Given the description of an element on the screen output the (x, y) to click on. 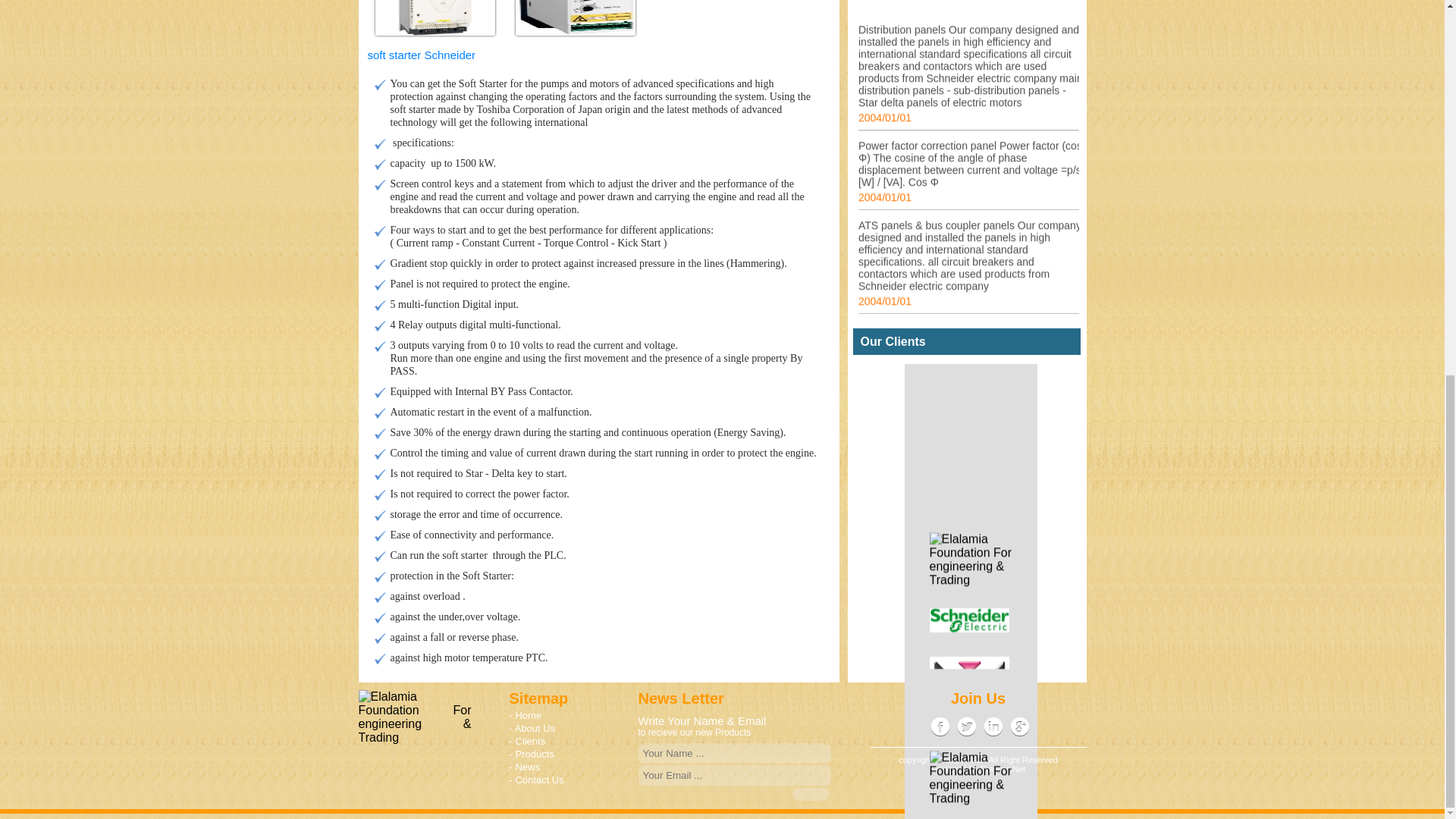
- Home (525, 715)
- News (524, 767)
- Products (531, 754)
- Clients (527, 740)
- Contact Us (536, 779)
- About Us (532, 727)
